Given the description of an element on the screen output the (x, y) to click on. 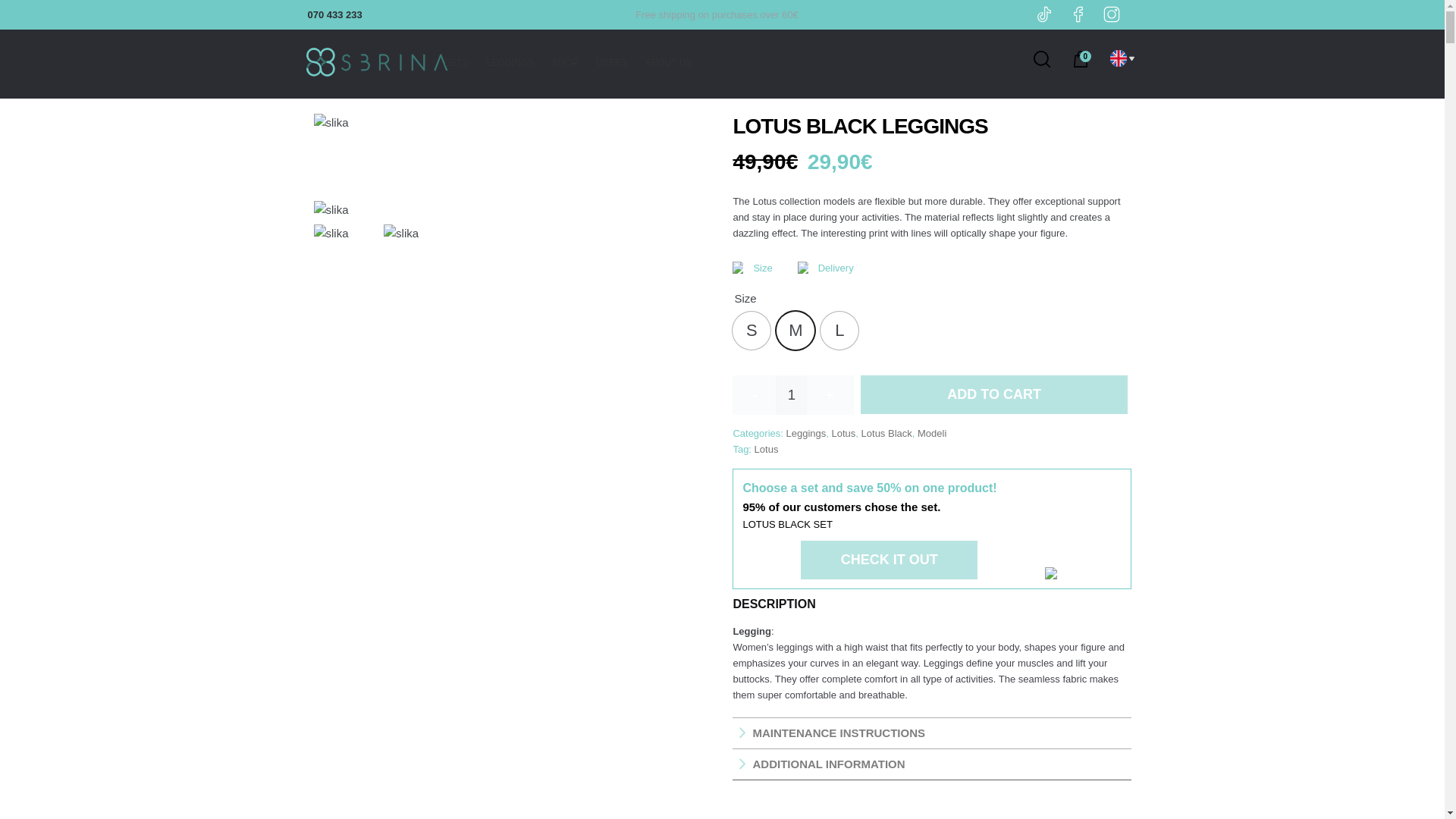
SETS (456, 63)
SHOP (564, 63)
Leggings (805, 432)
- (754, 395)
L (840, 330)
ABOUT US (668, 63)
LEGGINGS (510, 63)
S (751, 330)
070 433 233 (334, 14)
Lotus (843, 432)
M (794, 330)
USERS (611, 63)
ADD TO CART (993, 394)
